Given the description of an element on the screen output the (x, y) to click on. 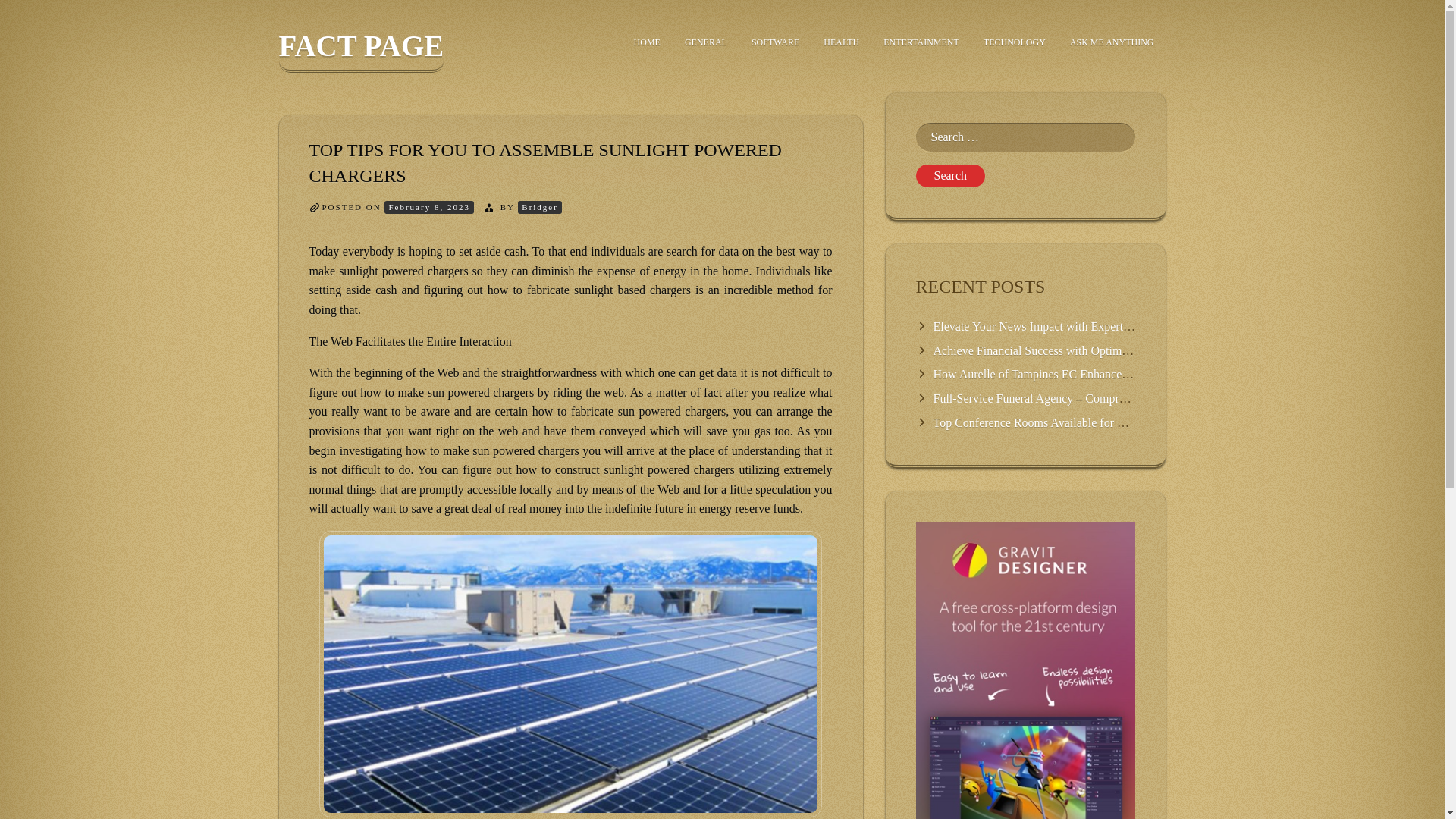
FACT PAGE (361, 50)
Search (950, 175)
Search (950, 175)
SOFTWARE (774, 42)
February 8, 2023 (428, 206)
ASK ME ANYTHING (1112, 42)
Top Conference Rooms Available for Short-Term Rentals (1072, 422)
GENERAL (705, 42)
HOME (646, 42)
ENTERTAINMENT (920, 42)
HEALTH (840, 42)
